Given the description of an element on the screen output the (x, y) to click on. 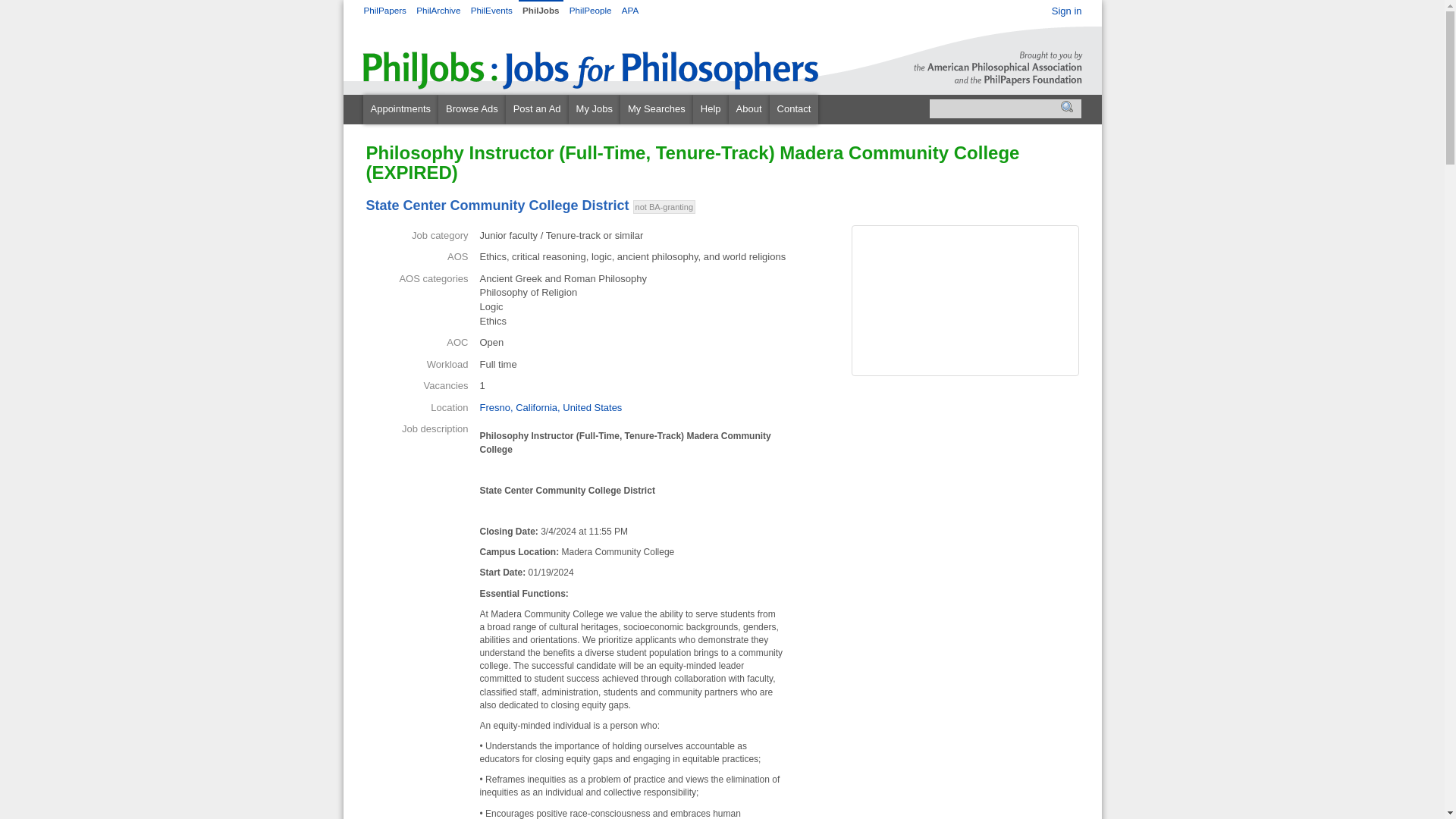
Browse Ads (471, 109)
Post an Ad (537, 109)
PhilPapers (385, 9)
PhilEvents (492, 9)
Help (711, 109)
My Searches (656, 109)
PhilArchive (439, 9)
PhilPeople (591, 9)
My Jobs (594, 109)
Contact (794, 109)
APA (629, 9)
Fresno, California, United States (550, 407)
Sign in (1066, 10)
About (749, 109)
Appointments (400, 109)
